Given the description of an element on the screen output the (x, y) to click on. 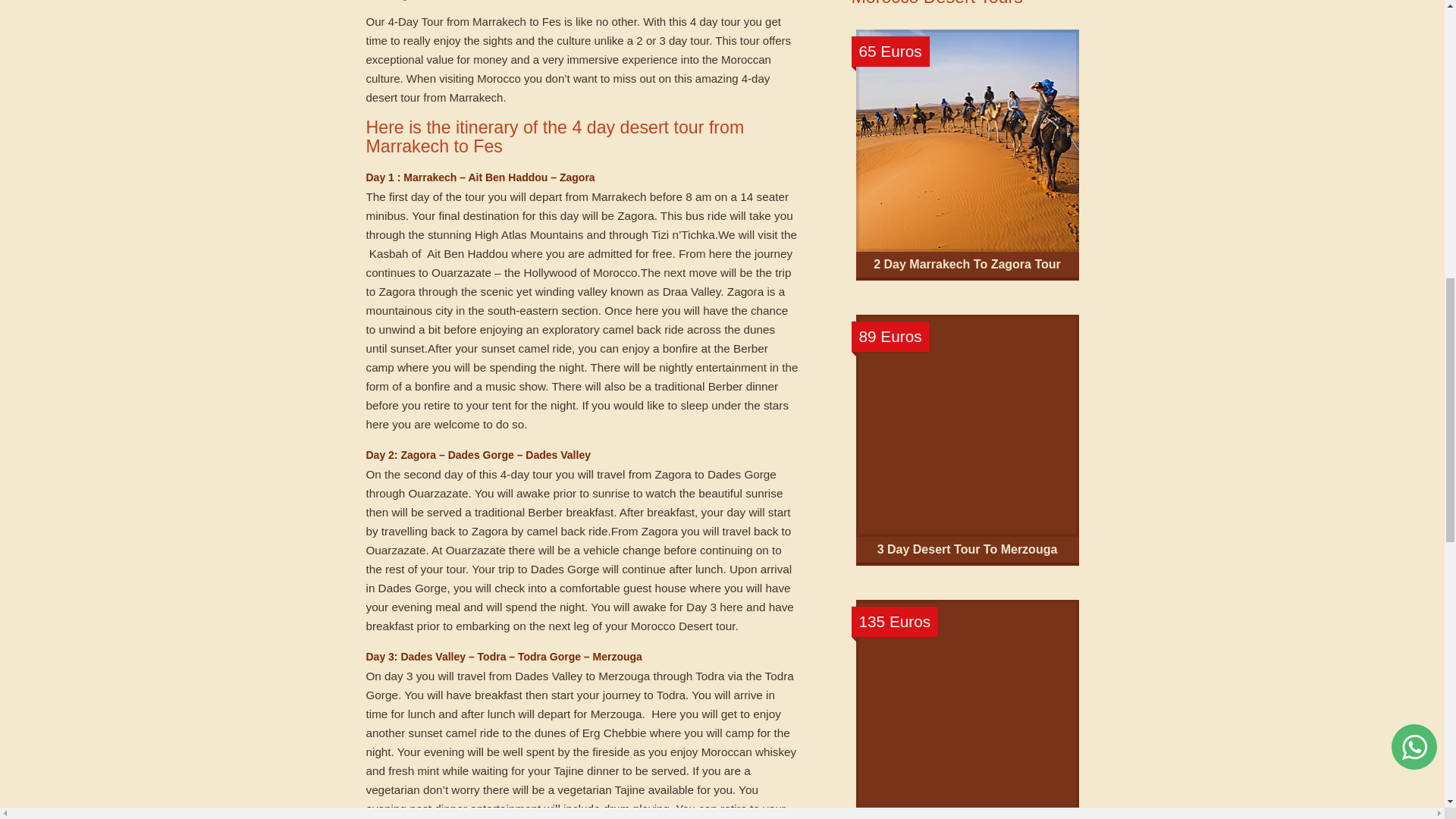
2 day Marrakech to Zagora tour (967, 264)
Marrakech Fes desert tour (967, 709)
Tour from Marrakech to Fes (491, 21)
2 Day Marrakech To Zagora Tour (967, 264)
3 Day Desert Tour to Merzouga (967, 549)
marrakech desert tours 2 days (967, 139)
4-day desert tour from Marrakech (567, 88)
3 Day Desert Tour To Merzouga (967, 549)
marrakech desert tours 3 days (967, 424)
